Given the description of an element on the screen output the (x, y) to click on. 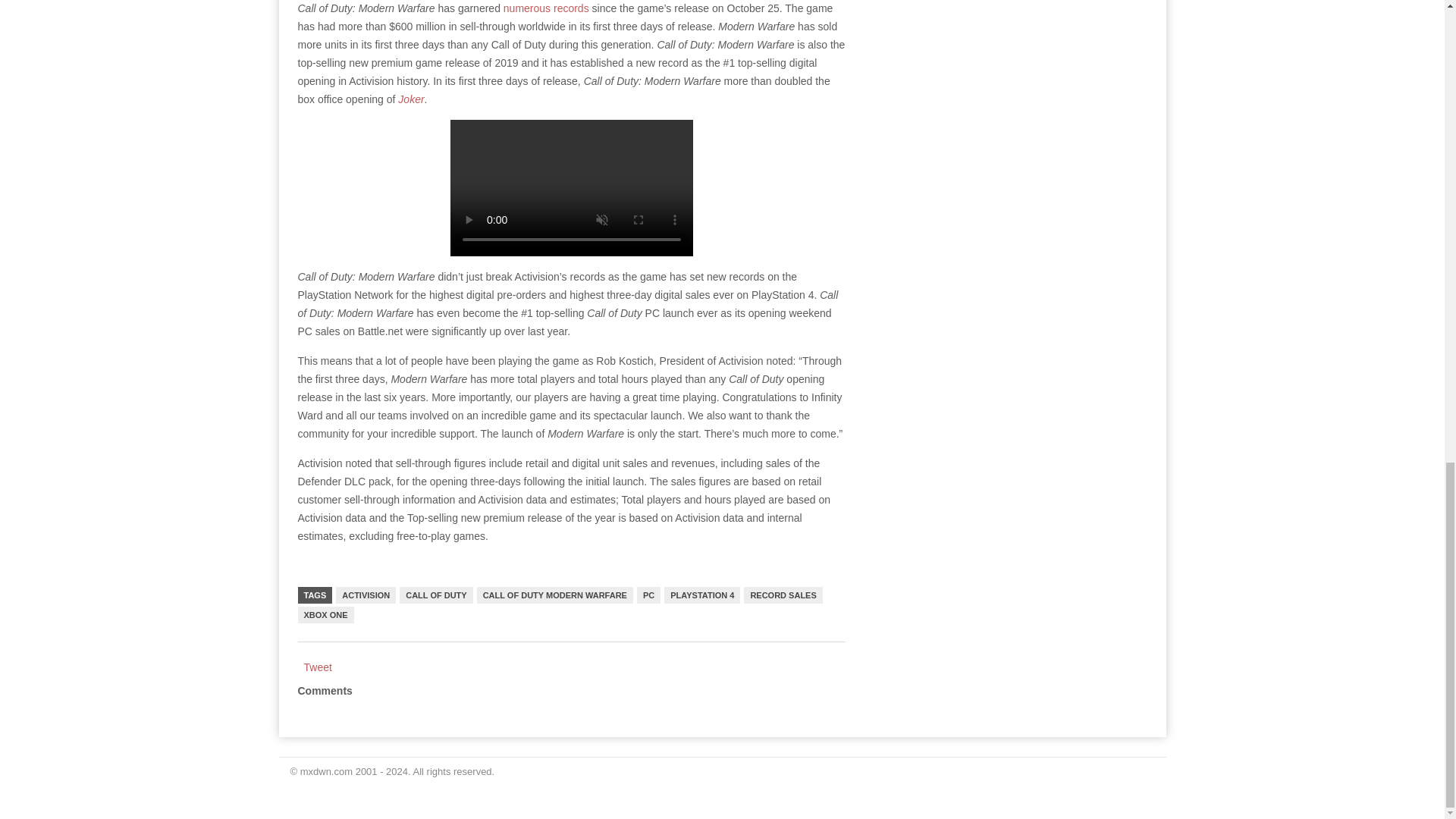
numerous records (546, 8)
Joker (410, 99)
